Given the description of an element on the screen output the (x, y) to click on. 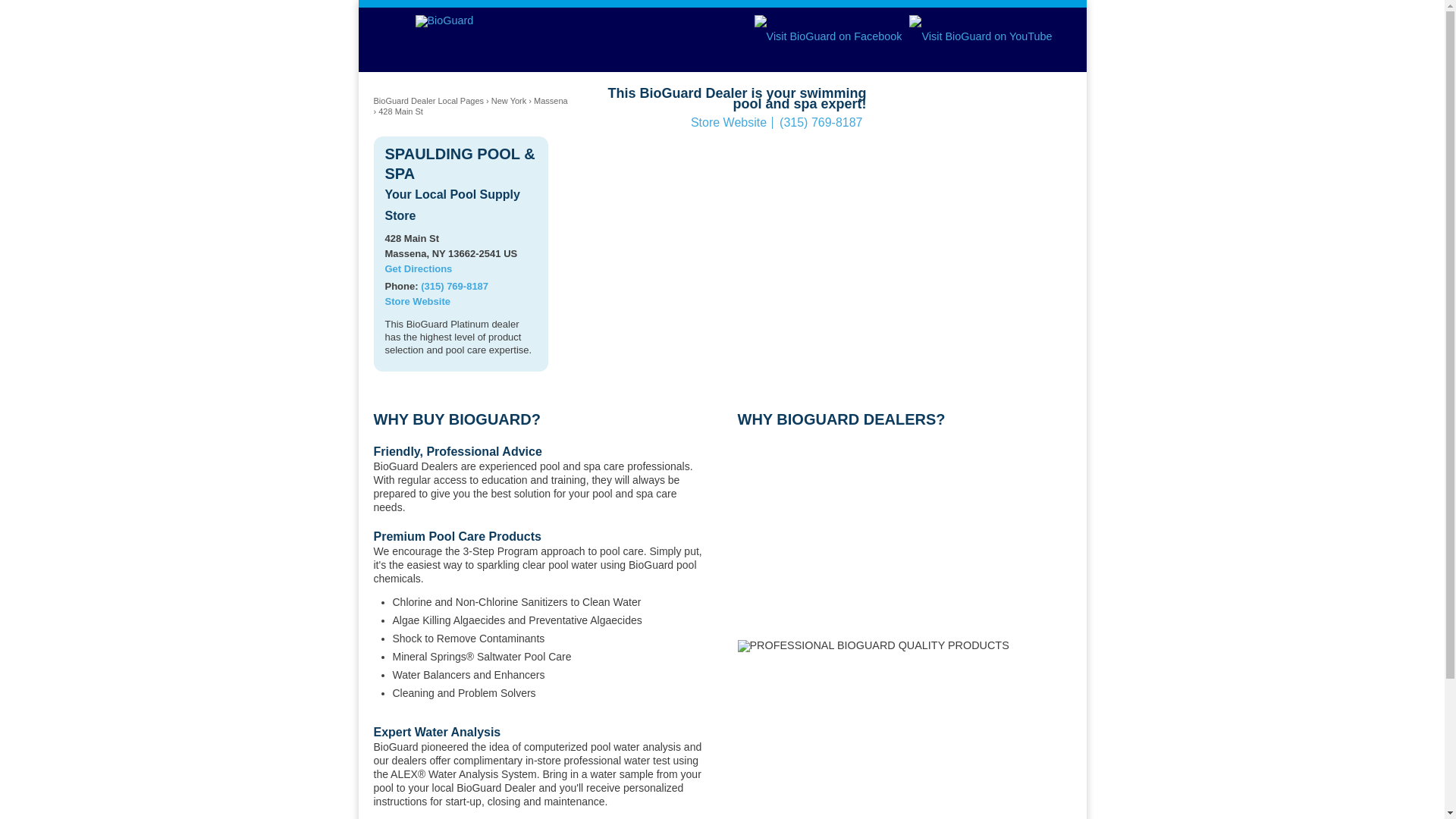
Visit BioGuard on YouTube (979, 36)
Get Directions (418, 268)
BioGuard (444, 20)
BioGuard Dealer Local Pages (427, 100)
Store Website (417, 301)
Visit BioGuard on Facebook (828, 36)
New York (508, 100)
Store Website (728, 122)
Massena (550, 100)
